Given the description of an element on the screen output the (x, y) to click on. 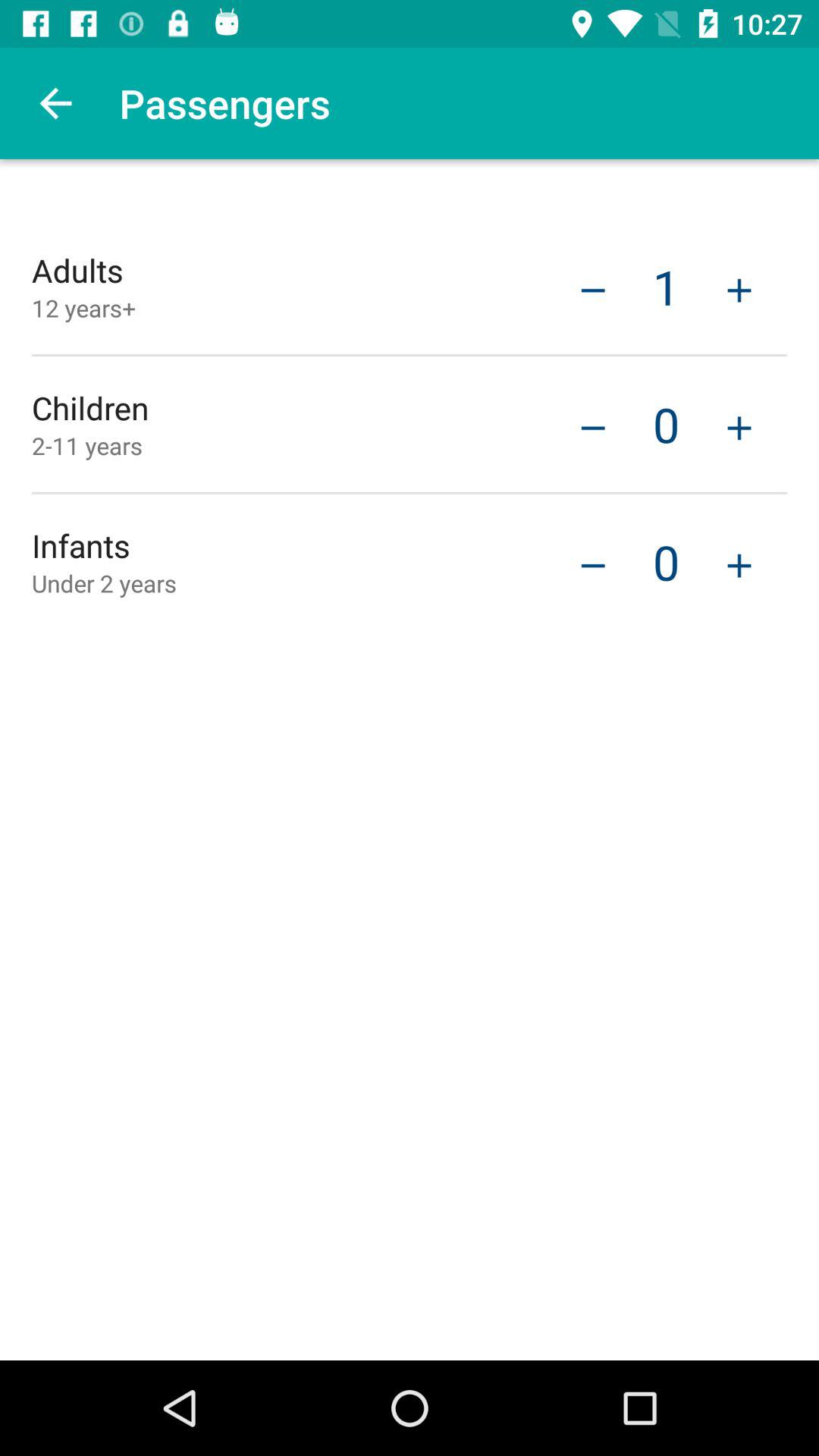
decrease (592, 288)
